Given the description of an element on the screen output the (x, y) to click on. 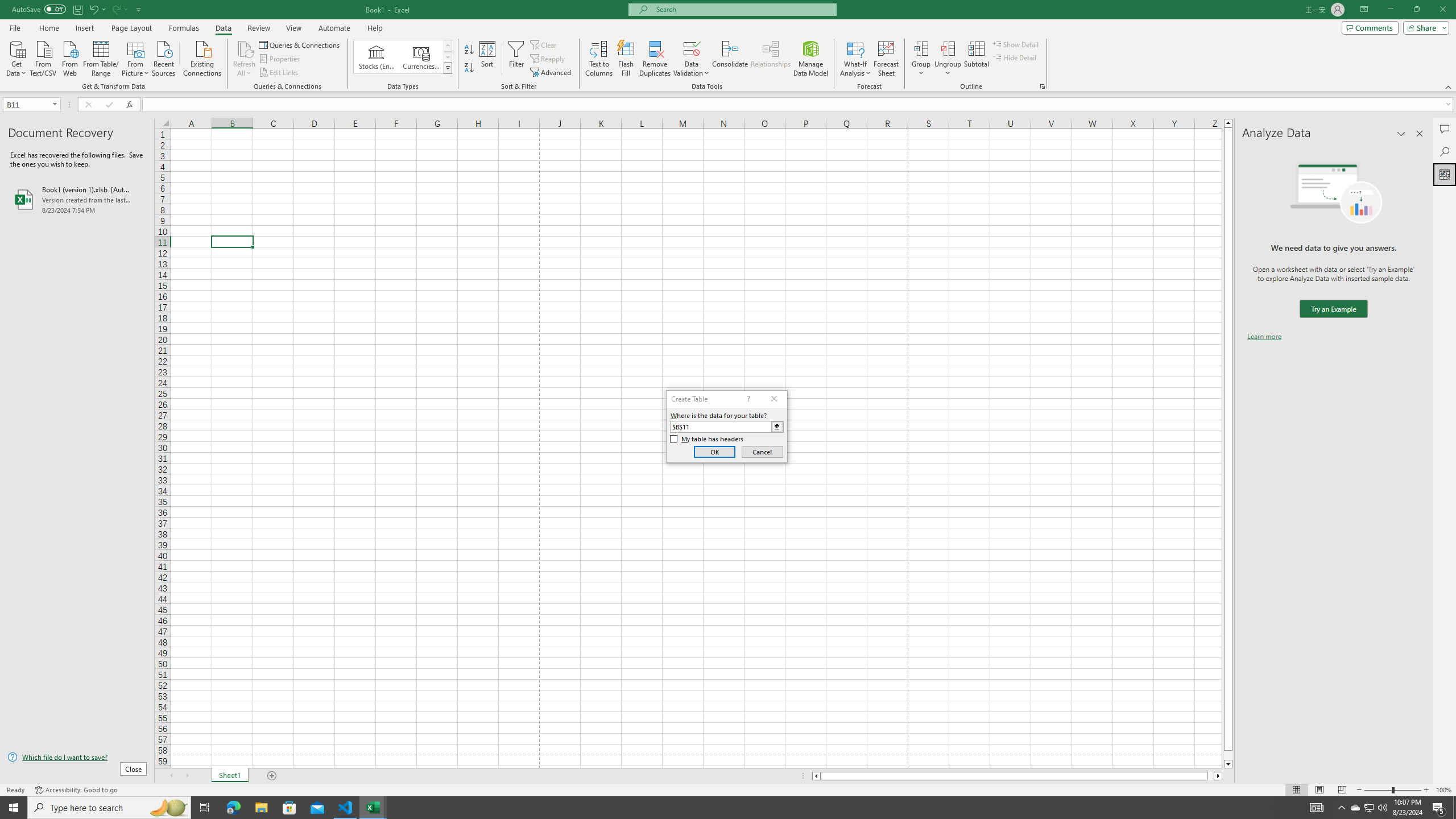
Learn more (1264, 336)
We need data to give you answers. Try an Example (1333, 308)
